Given the description of an element on the screen output the (x, y) to click on. 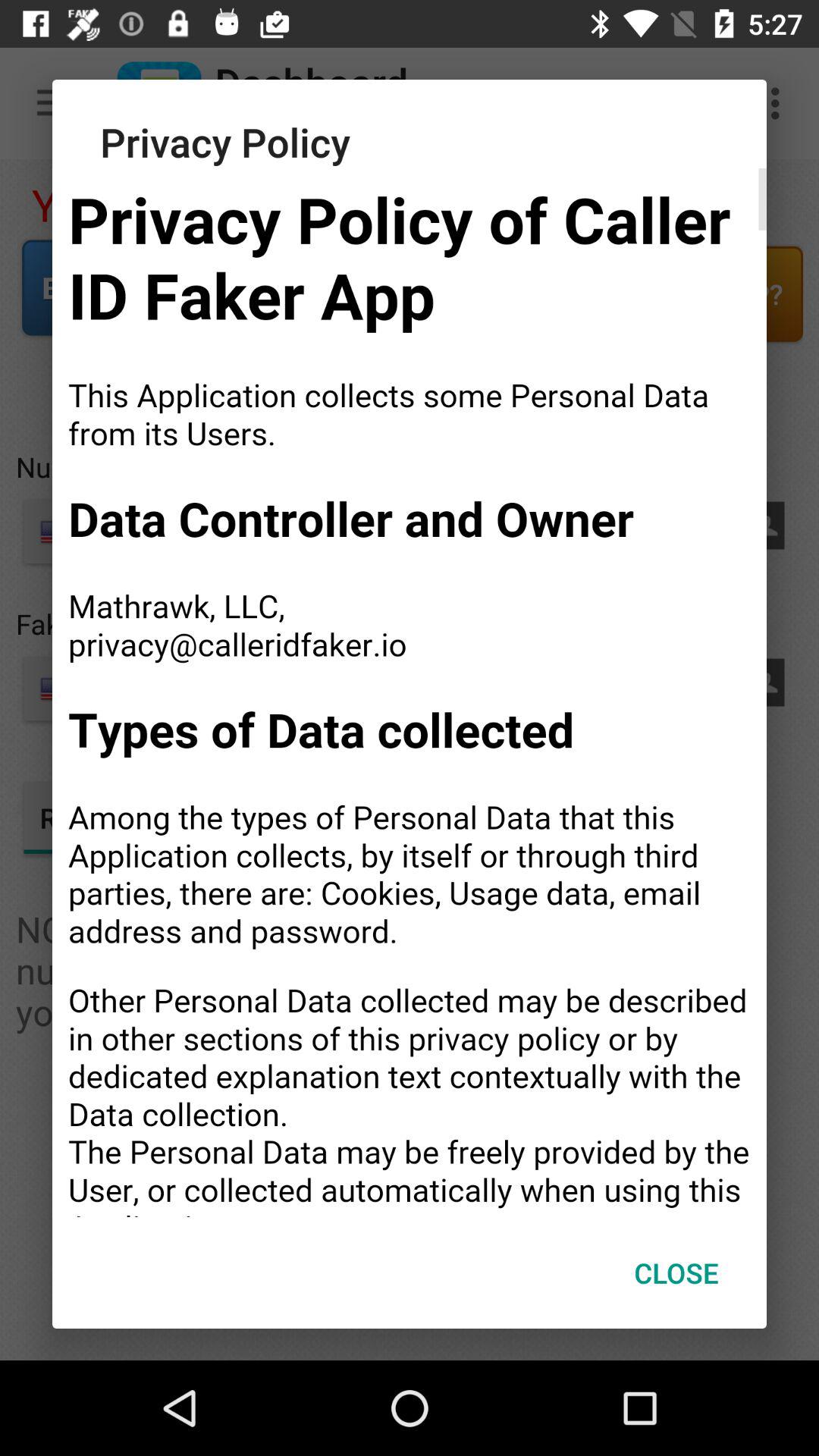
see the privacy policy (409, 692)
